Given the description of an element on the screen output the (x, y) to click on. 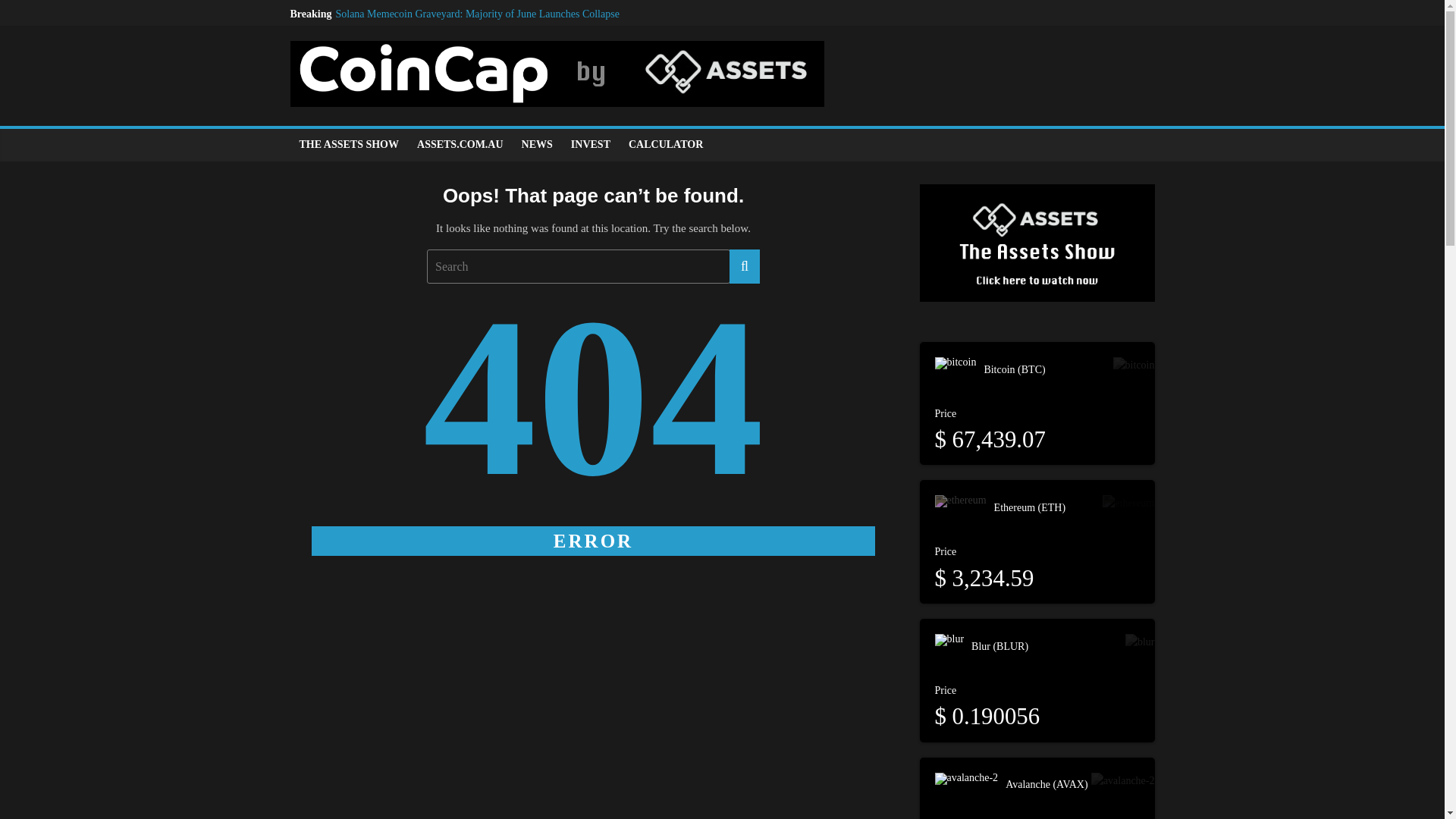
INVEST (591, 144)
ASSETS.COM.AU (459, 144)
NEWS (537, 144)
THE ASSETS SHOW (348, 144)
CALCULATOR (665, 144)
